Given the description of an element on the screen output the (x, y) to click on. 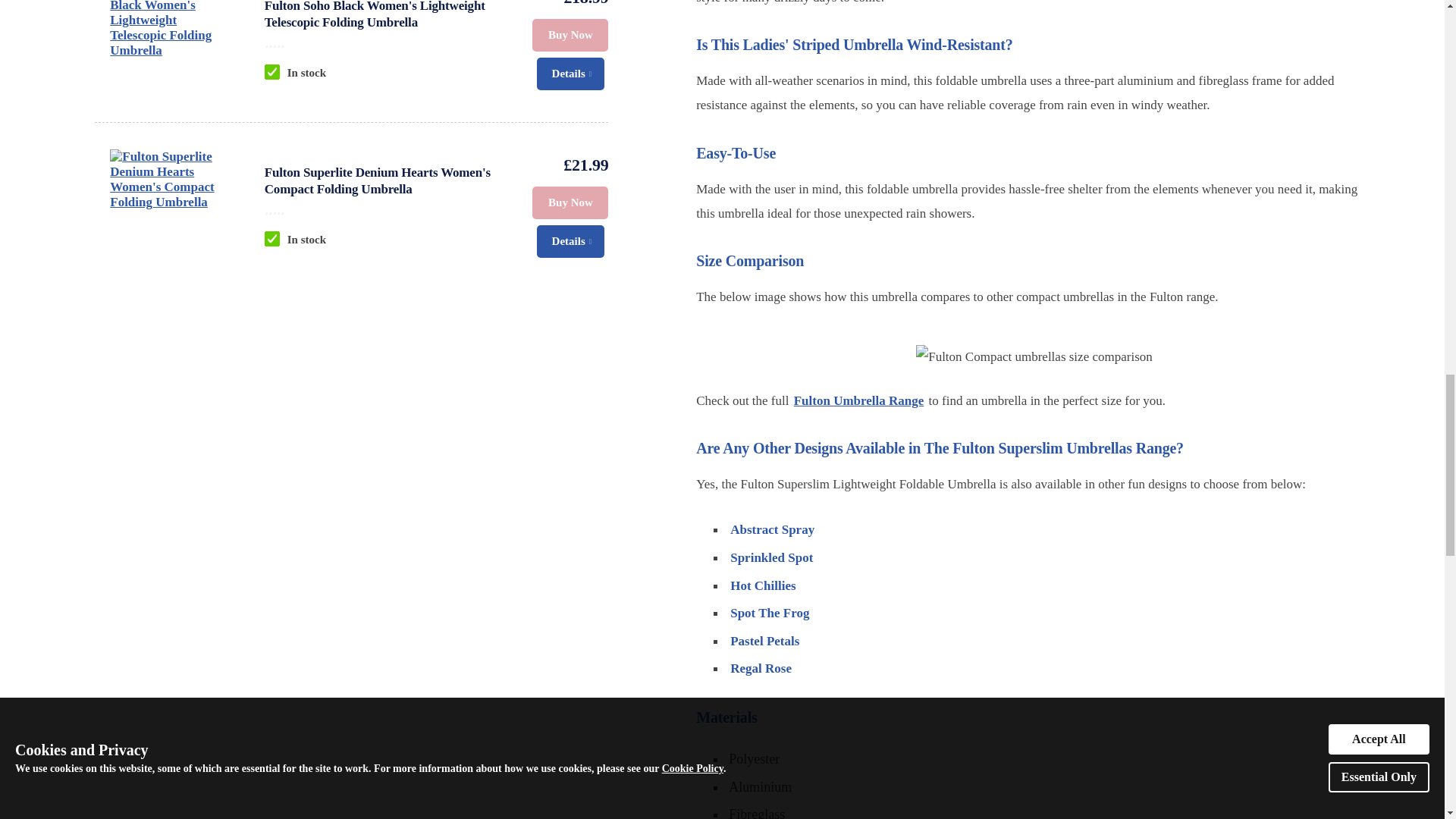
Add to Basket (570, 202)
Add to Basket (570, 34)
Not yet reviewed (383, 208)
Not yet reviewed (383, 41)
